Given the description of an element on the screen output the (x, y) to click on. 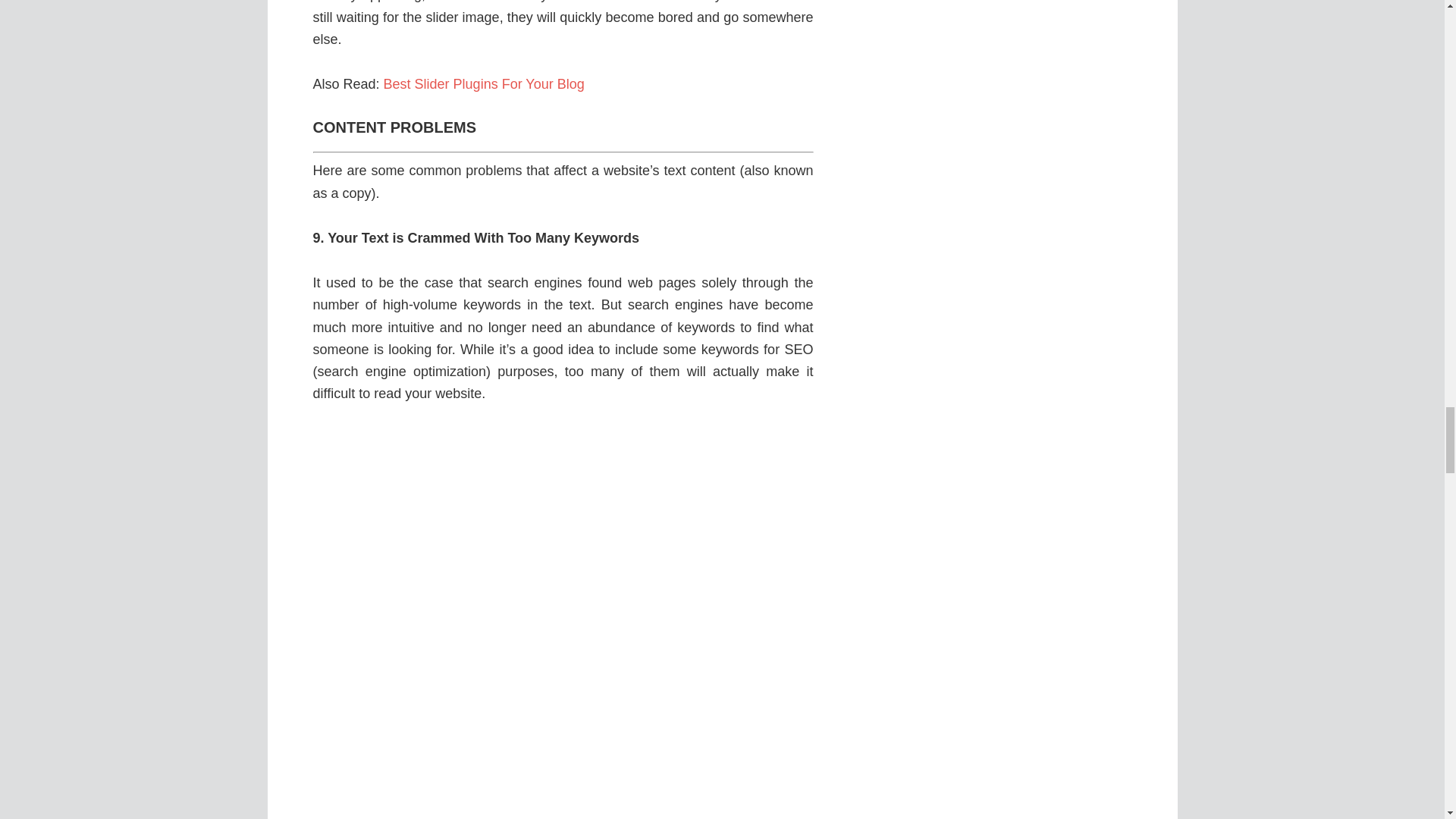
Best Slider Plugins For Your Blog (484, 83)
